Given the description of an element on the screen output the (x, y) to click on. 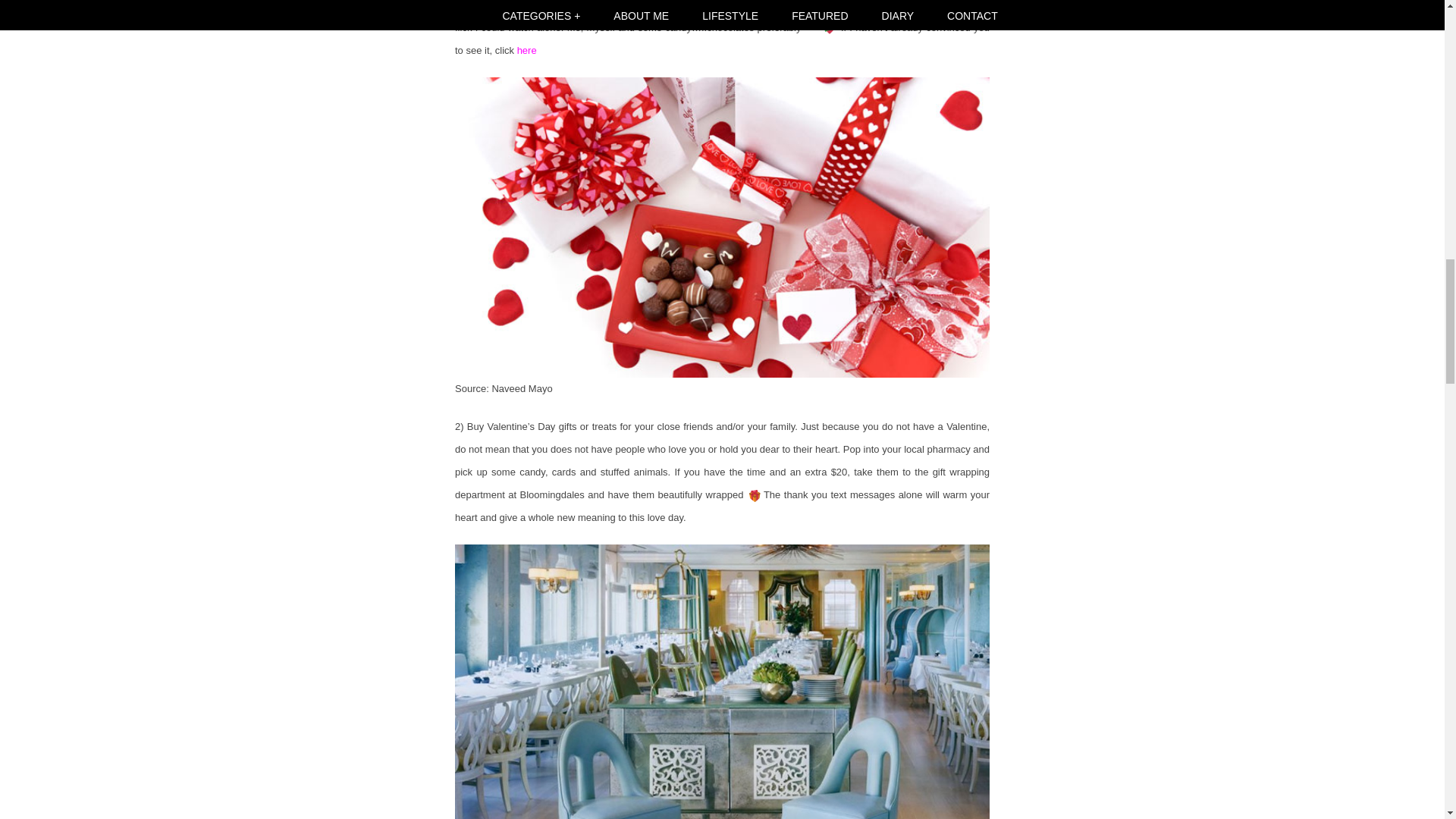
here (526, 50)
